Given the description of an element on the screen output the (x, y) to click on. 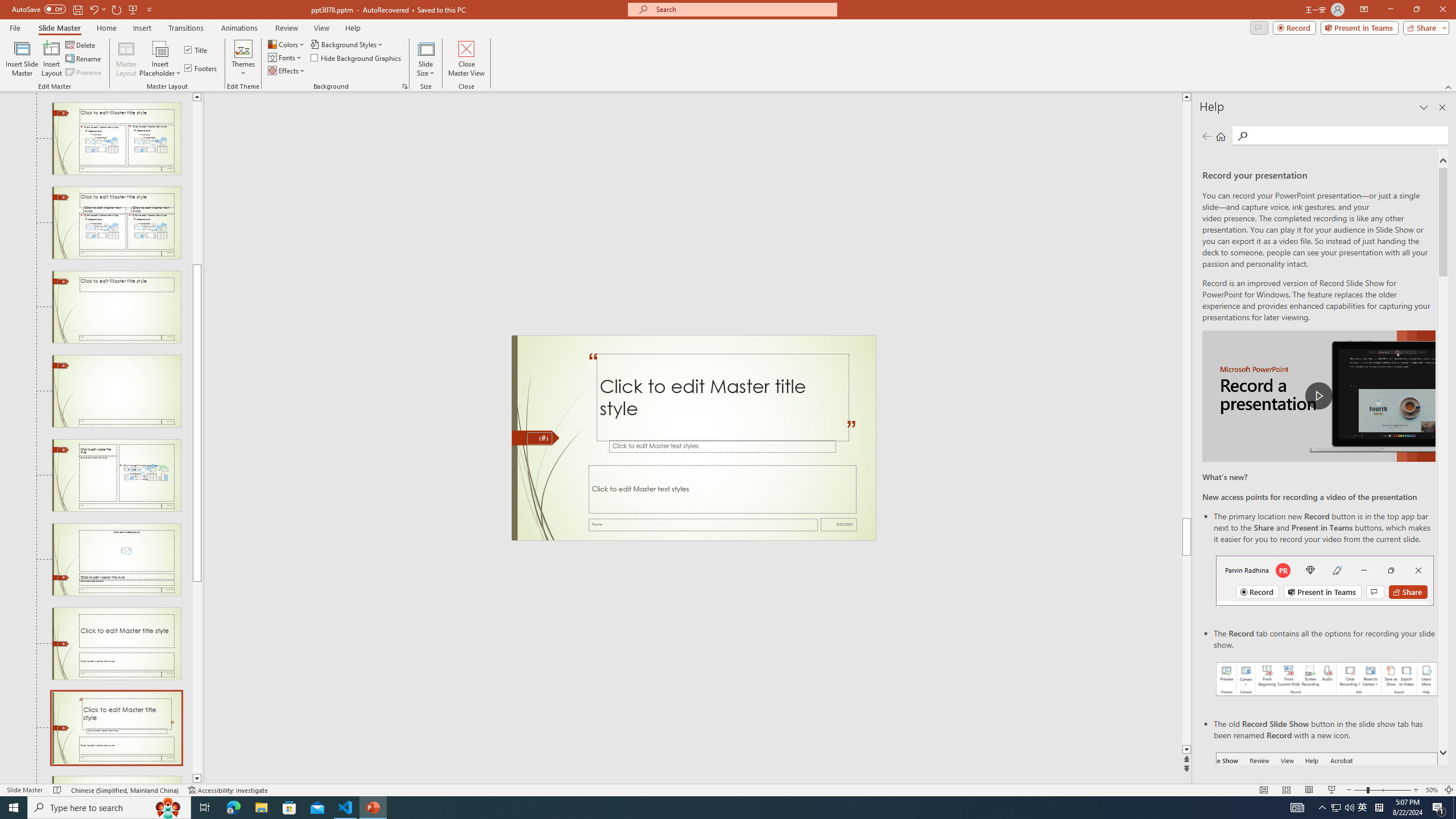
Slide Master (59, 28)
play Record a Presentation (1318, 395)
TextBox 13 (593, 367)
Title TextBox (722, 397)
Rename (84, 58)
Previous page (1206, 136)
Footers (201, 67)
Slide Picture with Caption Layout: used by no slides (116, 559)
Line down (197, 778)
Master Layout... (126, 58)
Slide Number (539, 438)
